Given the description of an element on the screen output the (x, y) to click on. 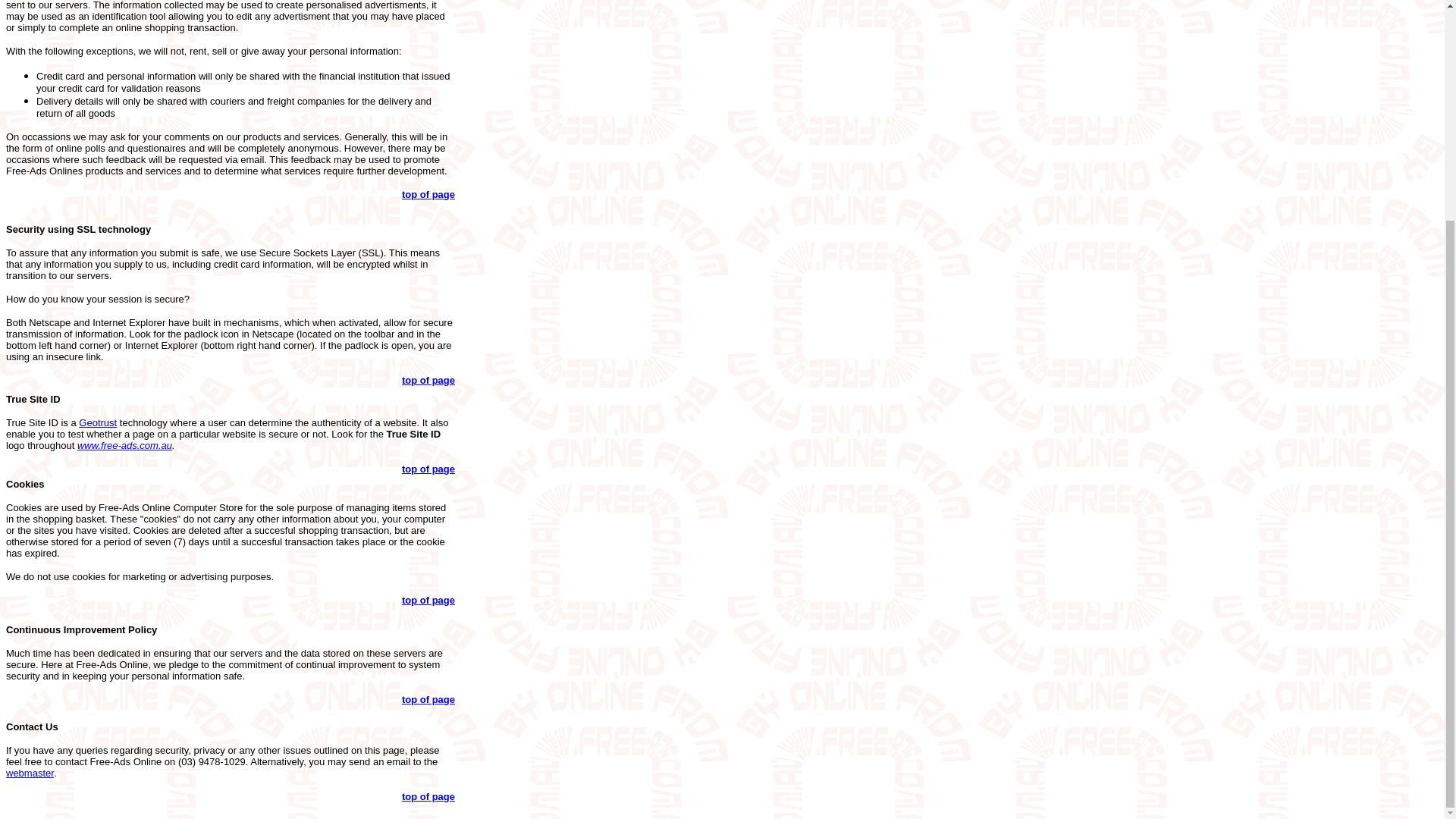
top of page (427, 379)
top of page (427, 194)
Geotrust (97, 422)
webmaster (29, 772)
top of page (427, 699)
www.free-ads.com.au (124, 445)
top of page (427, 600)
top of page (427, 796)
top of page (427, 469)
